Given the description of an element on the screen output the (x, y) to click on. 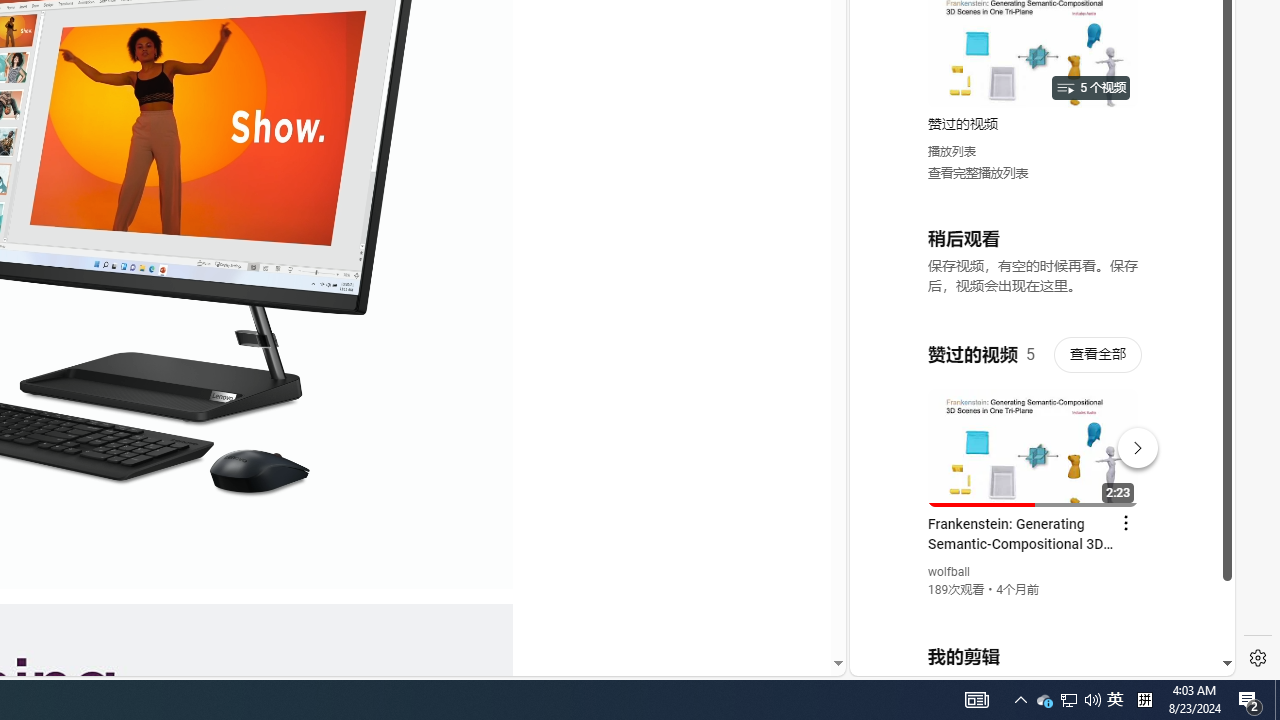
wolfball (949, 572)
YouTube - YouTube (1034, 266)
